Given the description of an element on the screen output the (x, y) to click on. 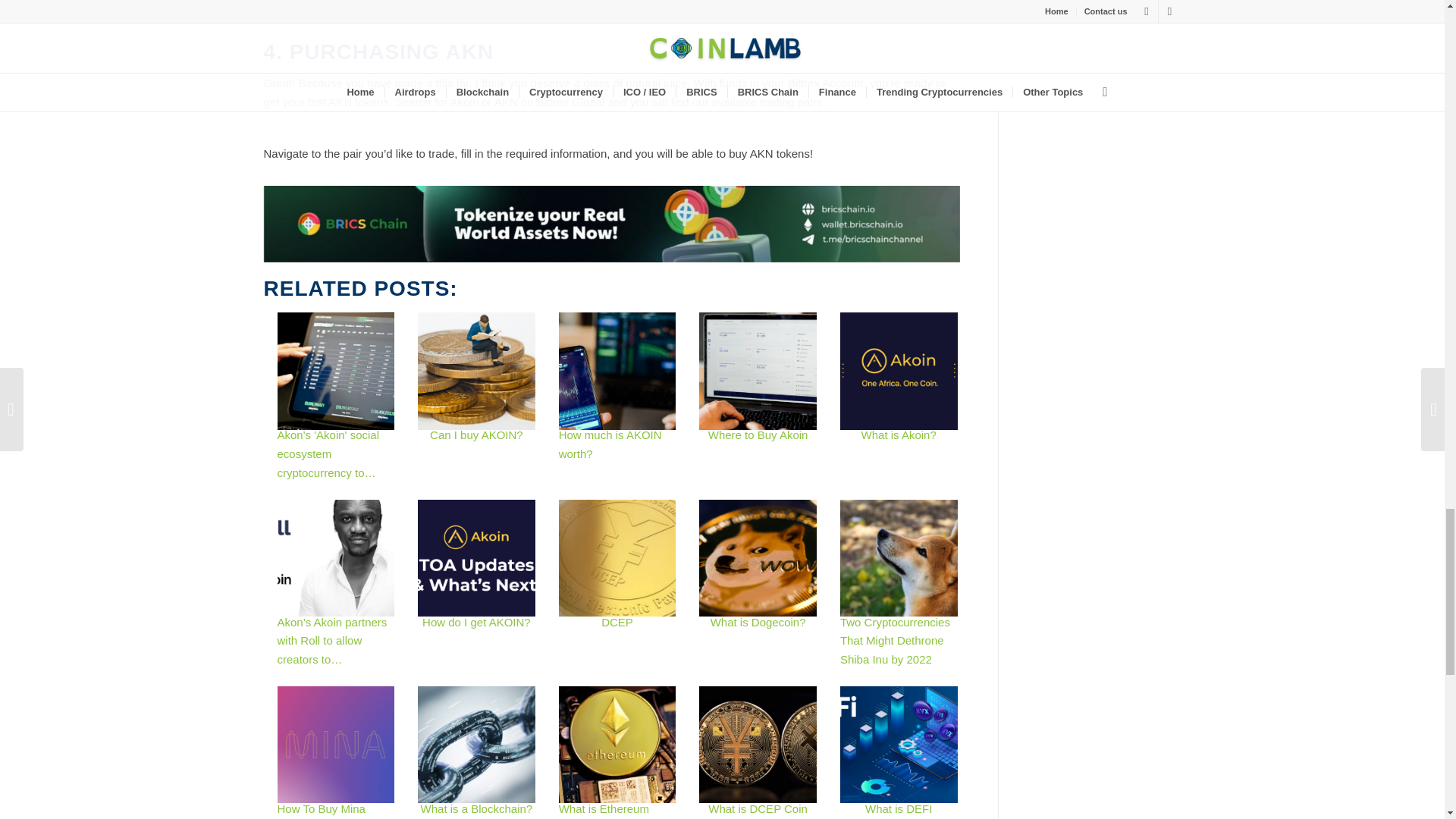
How much is AKOIN worth? (618, 370)
Where to Buy Akoin (757, 370)
What is Akoin? (899, 370)
Can I buy AKOIN? (476, 370)
